Given the description of an element on the screen output the (x, y) to click on. 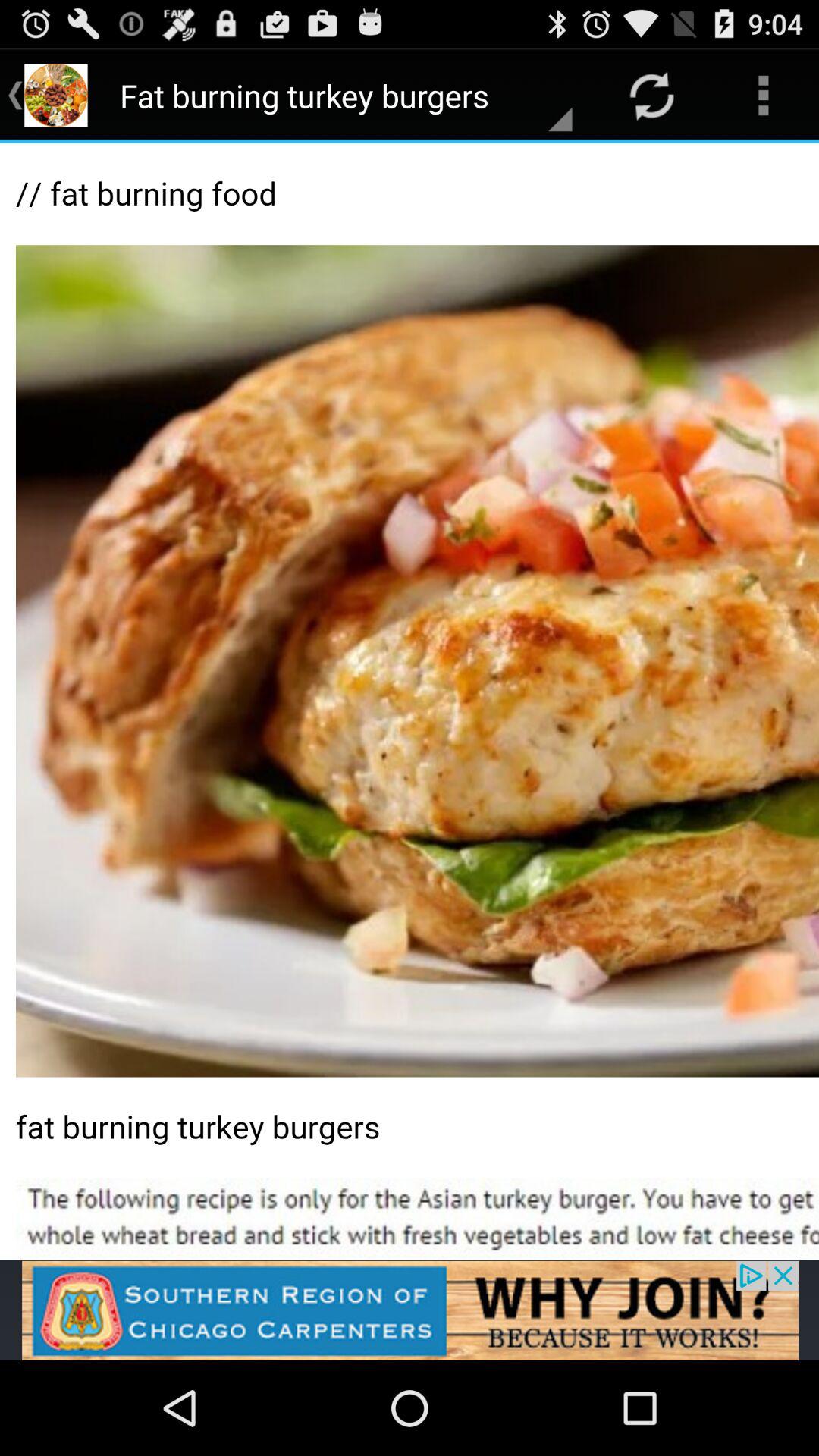
go to advertisement (409, 1310)
